Given the description of an element on the screen output the (x, y) to click on. 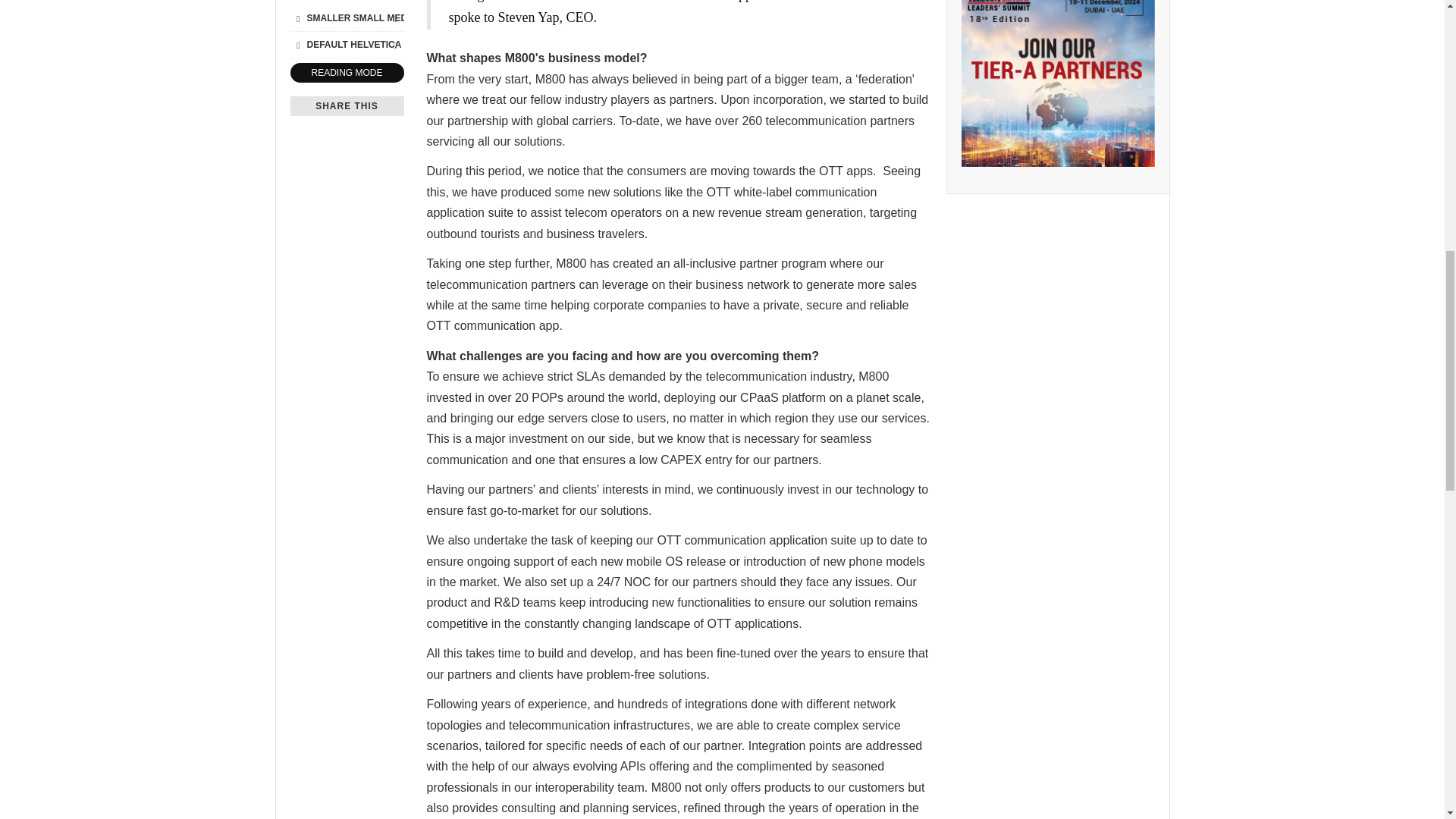
Next Font Style (395, 44)
Previous Font Style (297, 44)
2024 03 TRS WB (1057, 83)
Bigger Font (395, 17)
Reading Mode (346, 73)
Smaller Font (297, 17)
